Given the description of an element on the screen output the (x, y) to click on. 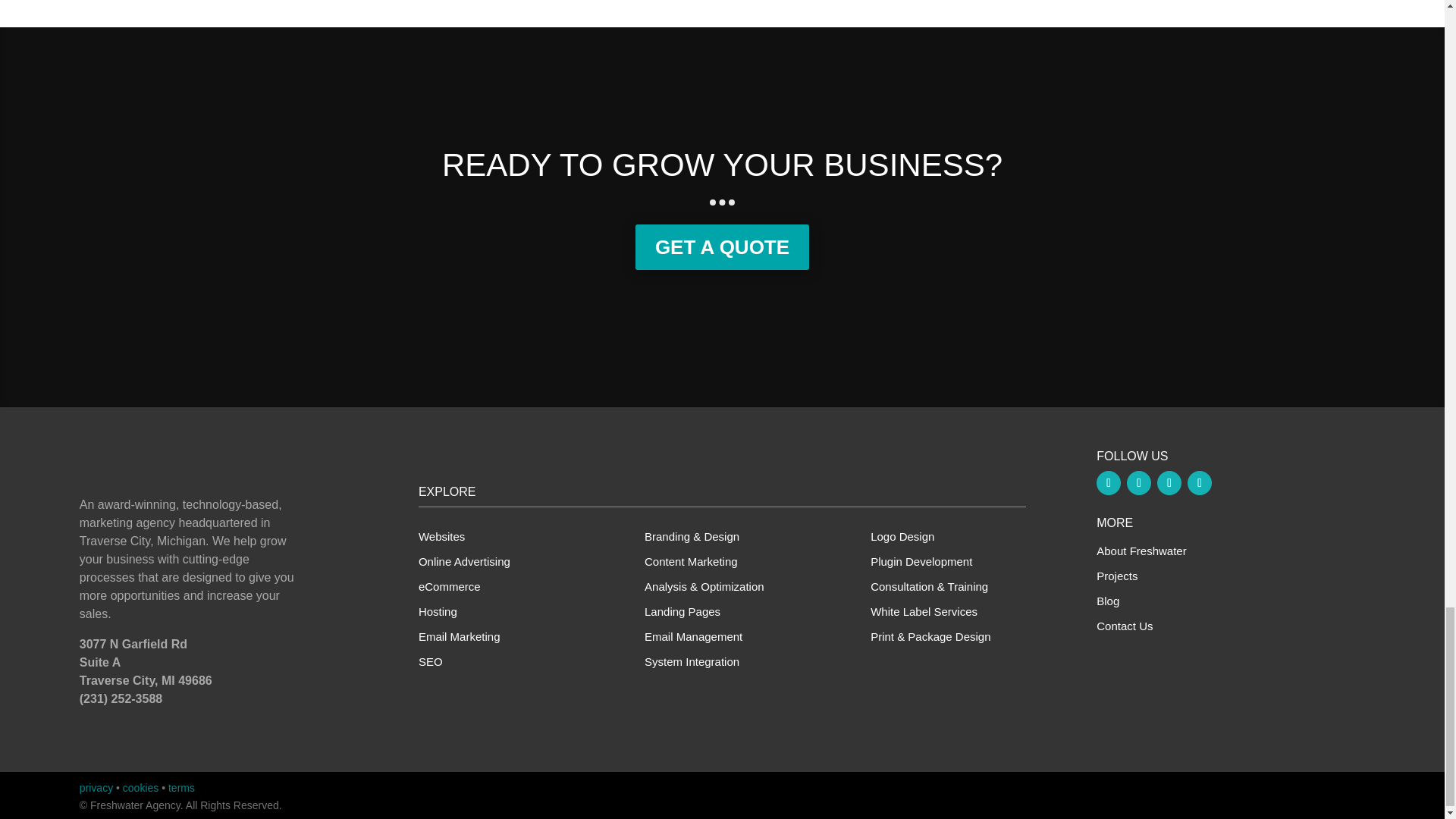
Follow on LinkedIn (1199, 482)
Follow on Instagram (1168, 482)
Follow on Twitter (1138, 482)
Follow on Facebook (1108, 482)
